Given the description of an element on the screen output the (x, y) to click on. 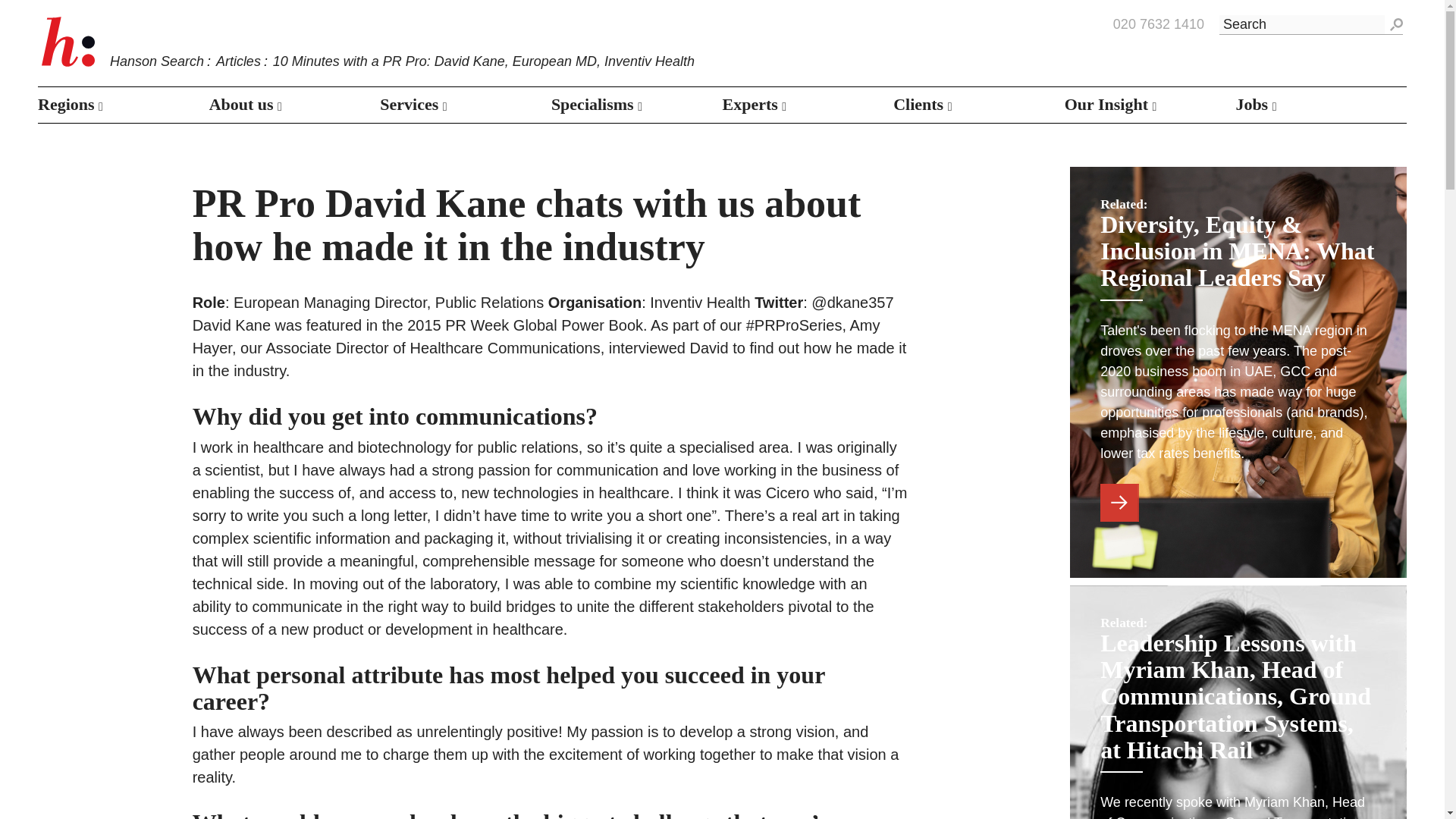
020 7632 1410 (1158, 25)
Search (1393, 25)
Search (1393, 25)
Articles (237, 61)
Hanson Search (156, 61)
